Given the description of an element on the screen output the (x, y) to click on. 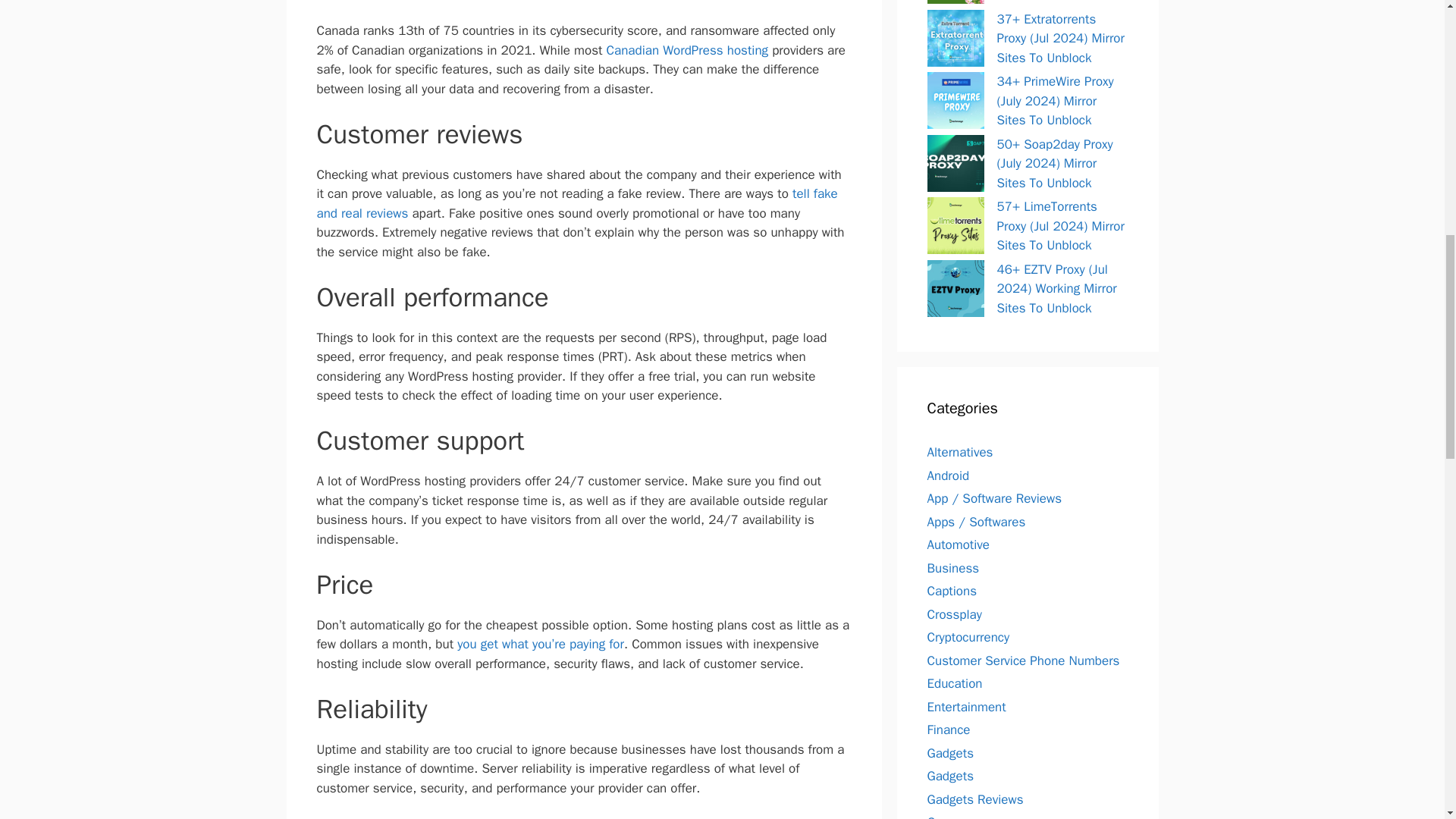
Canadian WordPress hosting (687, 50)
tell fake and real reviews (577, 203)
